Given the description of an element on the screen output the (x, y) to click on. 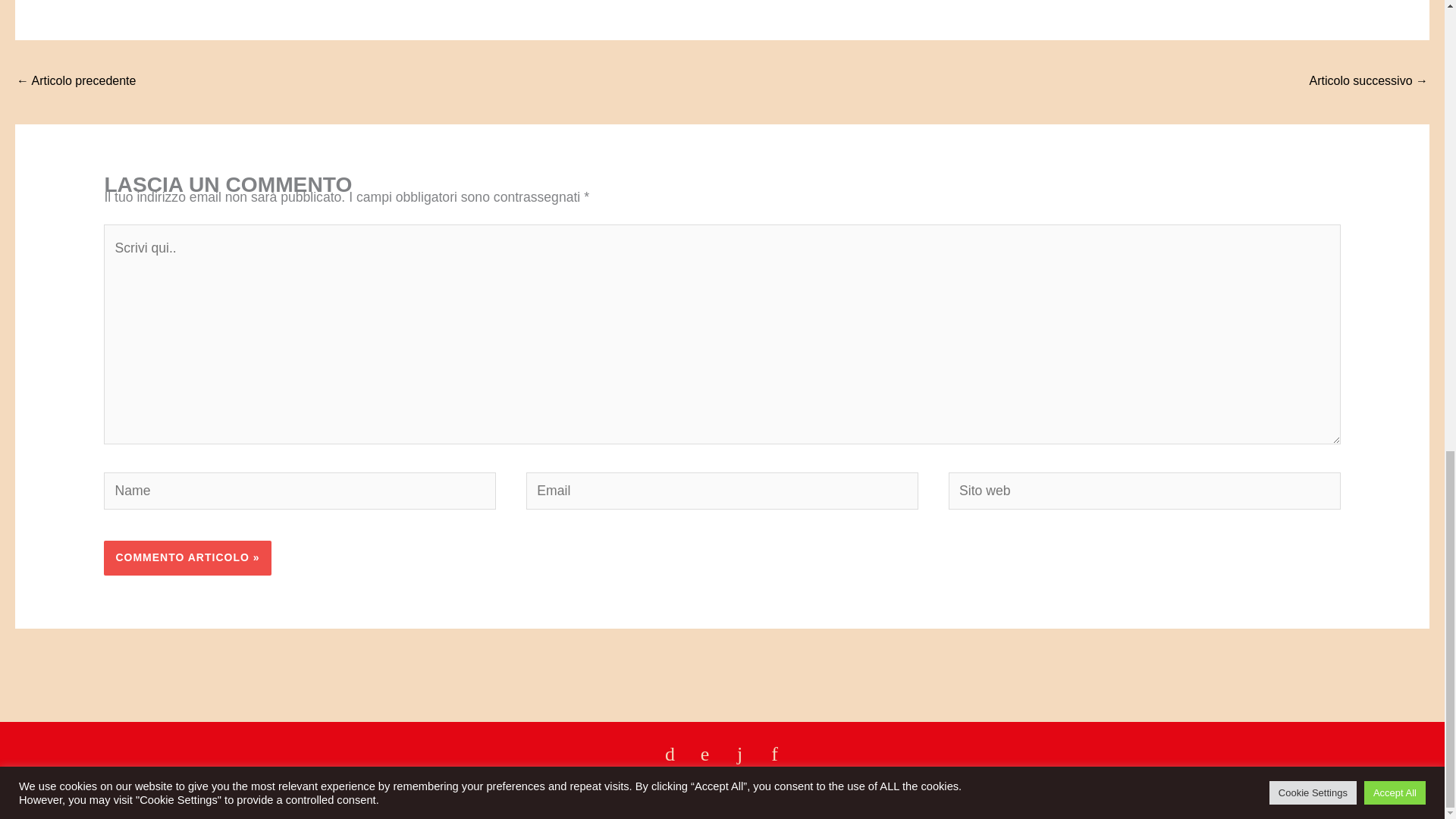
Contattaci (46, 788)
Obtaining The Most useful math websites for kids (75, 81)
Informativa sulla privacy (1364, 788)
